Given the description of an element on the screen output the (x, y) to click on. 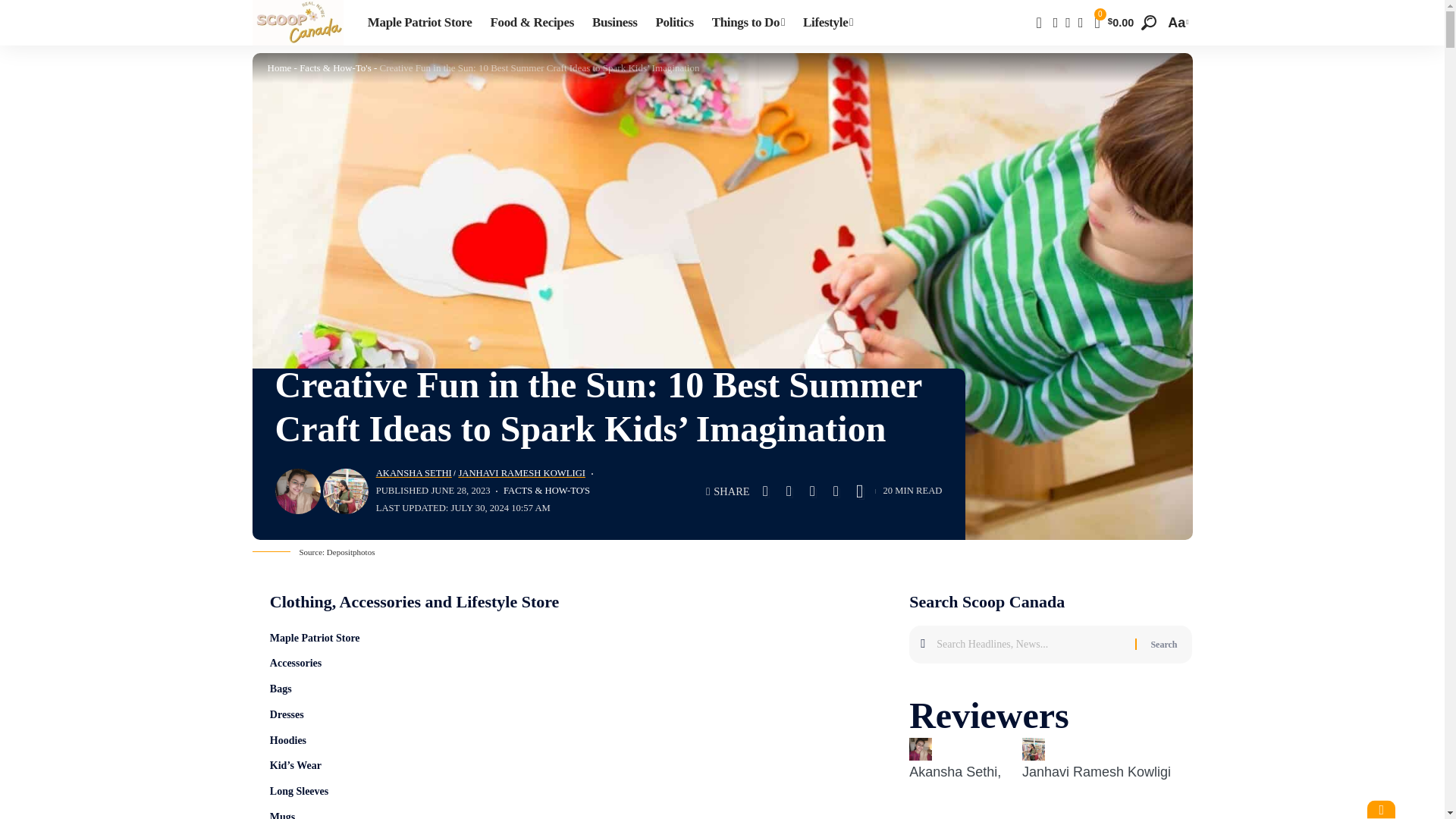
Business (614, 22)
Search (1163, 643)
Lifestyle (827, 22)
Things to Do (748, 22)
Maple Patriot Store (419, 22)
Aa (1175, 23)
Politics (674, 22)
Janhavi Ramesh Kowligi (1096, 771)
Scoop Canada (296, 22)
